Given the description of an element on the screen output the (x, y) to click on. 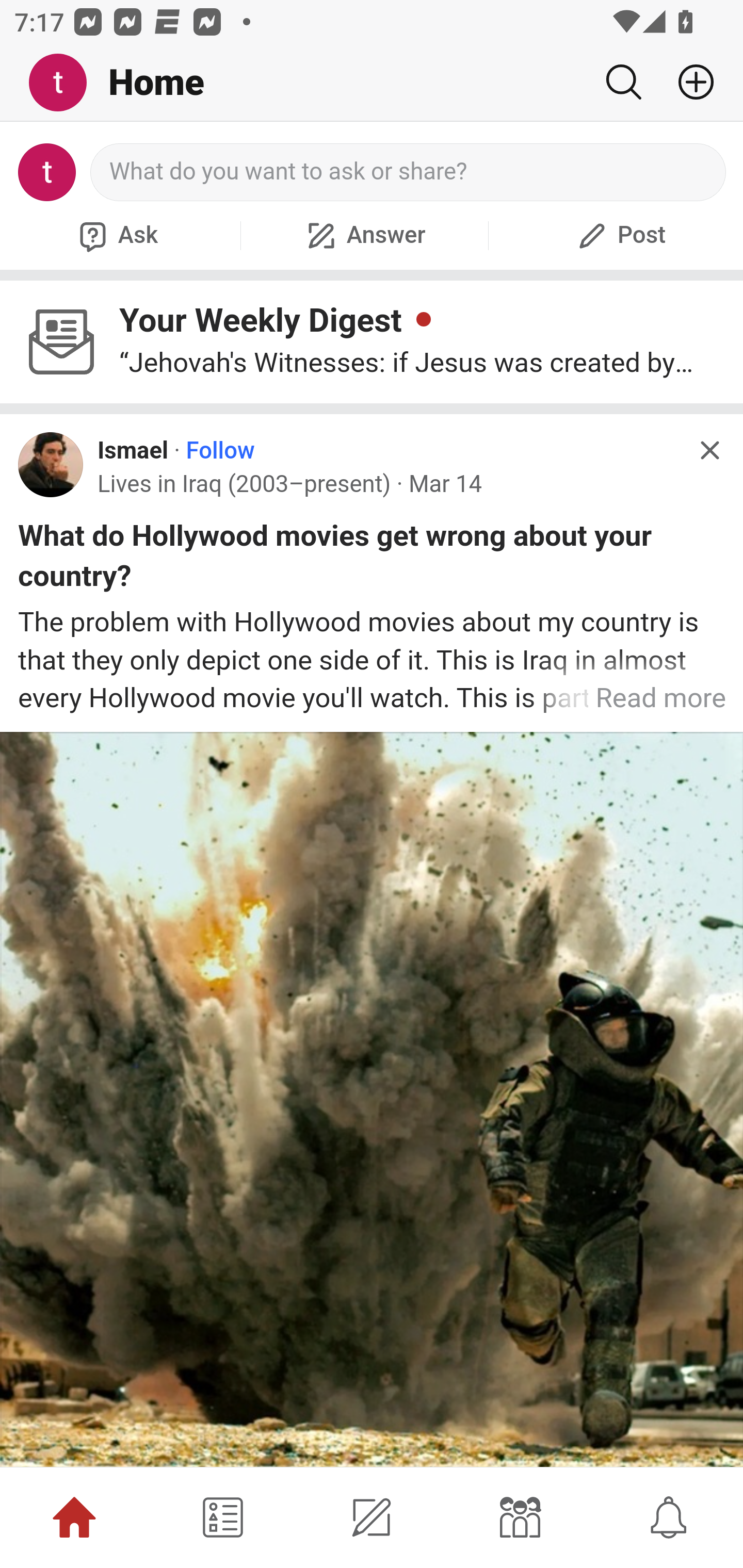
Me Home Search Add (371, 82)
Me (64, 83)
Search (623, 82)
Add (688, 82)
